Given the description of an element on the screen output the (x, y) to click on. 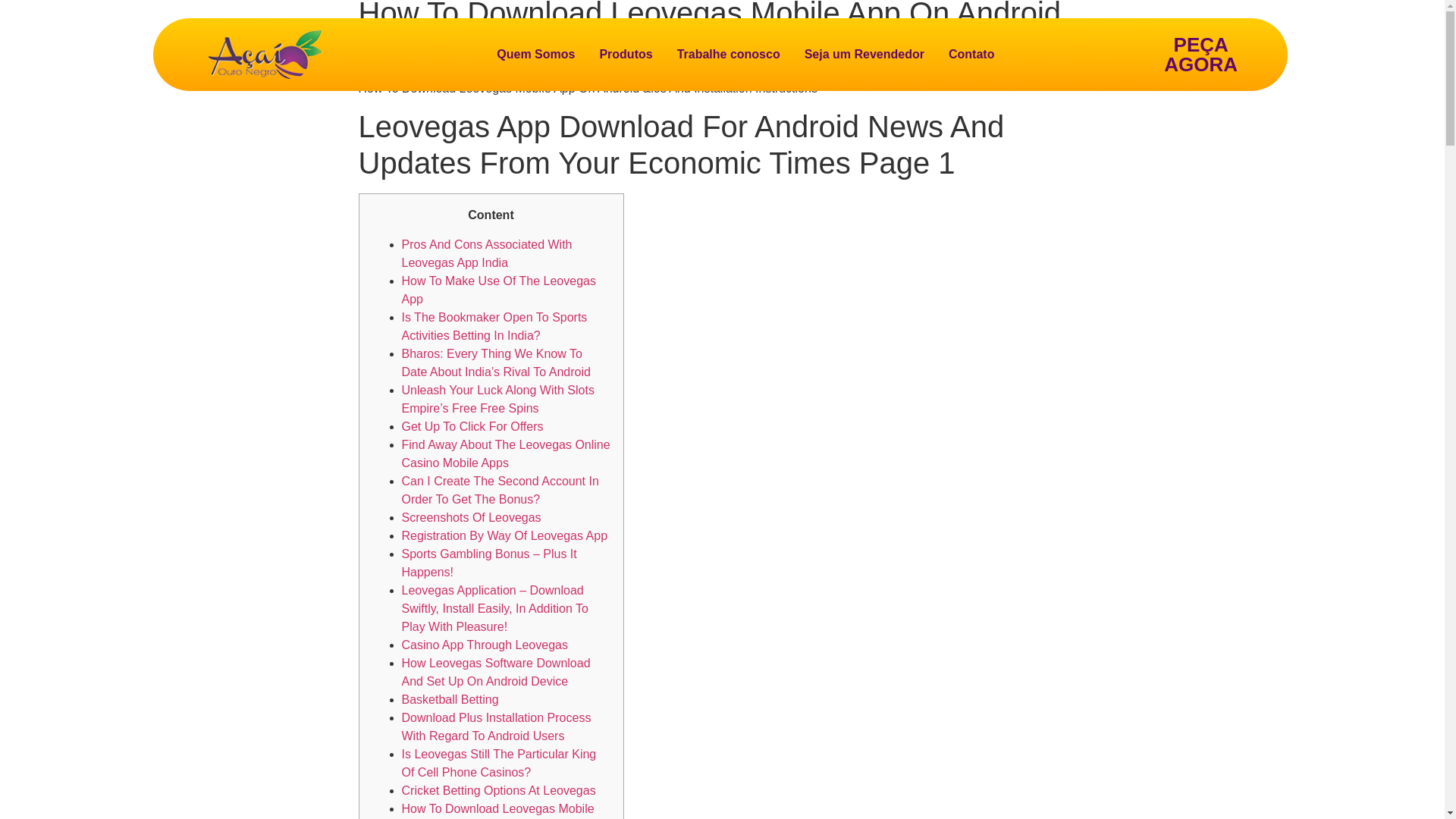
Basketball Betting (450, 698)
Seja um Revendedor (864, 54)
Produtos (624, 54)
Screenshots Of Leovegas (471, 517)
How To Make Use Of The Leovegas App (498, 289)
Quem Somos (535, 54)
Is Leovegas Still The Particular King Of Cell Phone Casinos? (498, 762)
Get Up To Click For Offers (472, 426)
Pros And Cons Associated With Leovegas App India (486, 253)
acaiouronegrologosite-1 (264, 54)
How Leovegas Software Download And Set Up On Android Device (496, 671)
Is The Bookmaker Open To Sports Activities Betting In India? (494, 326)
Casino App Through Leovegas (484, 644)
Registration By Way Of Leovegas App (504, 535)
